Given the description of an element on the screen output the (x, y) to click on. 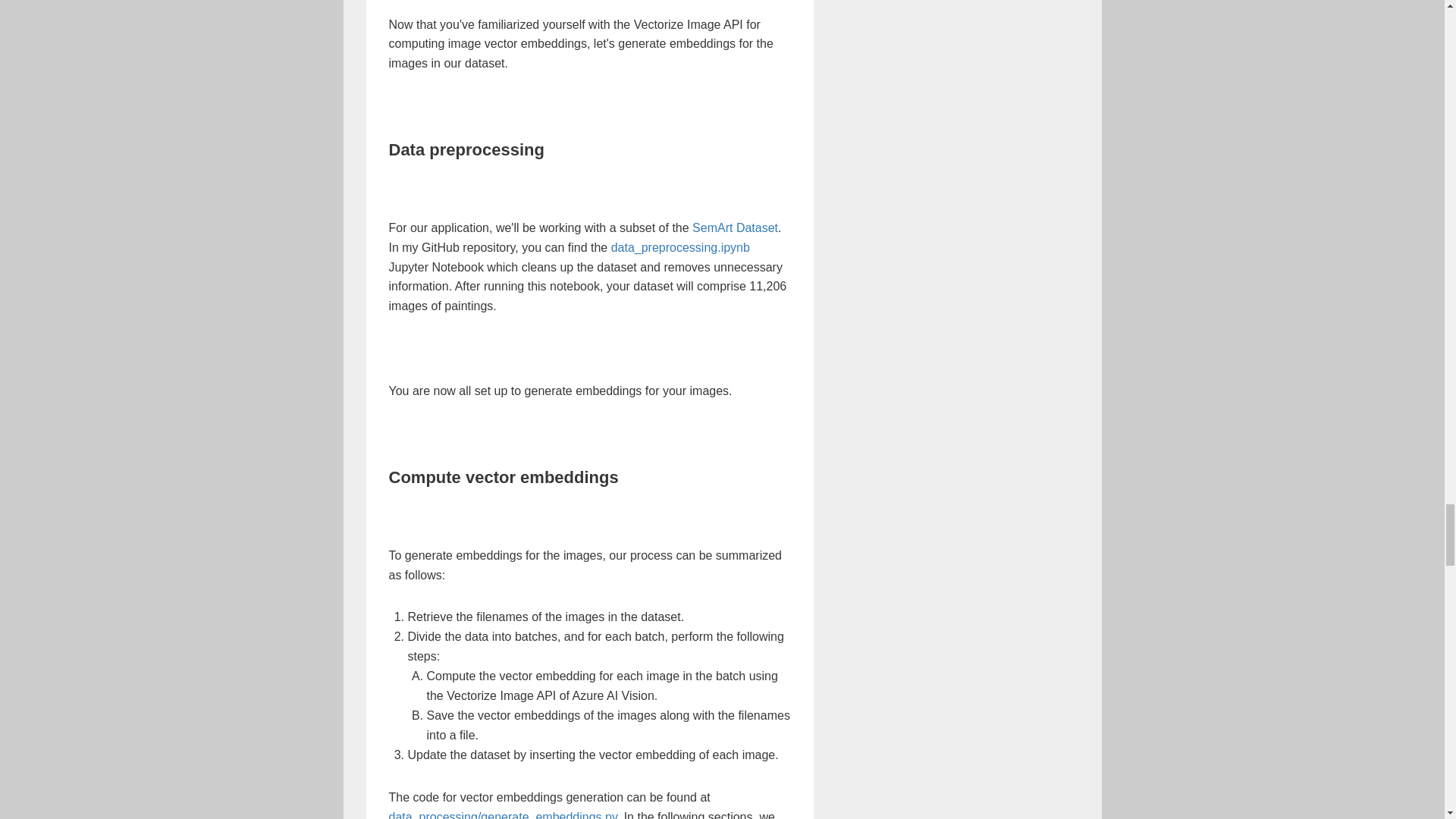
SemArt Dataset (735, 227)
